Given the description of an element on the screen output the (x, y) to click on. 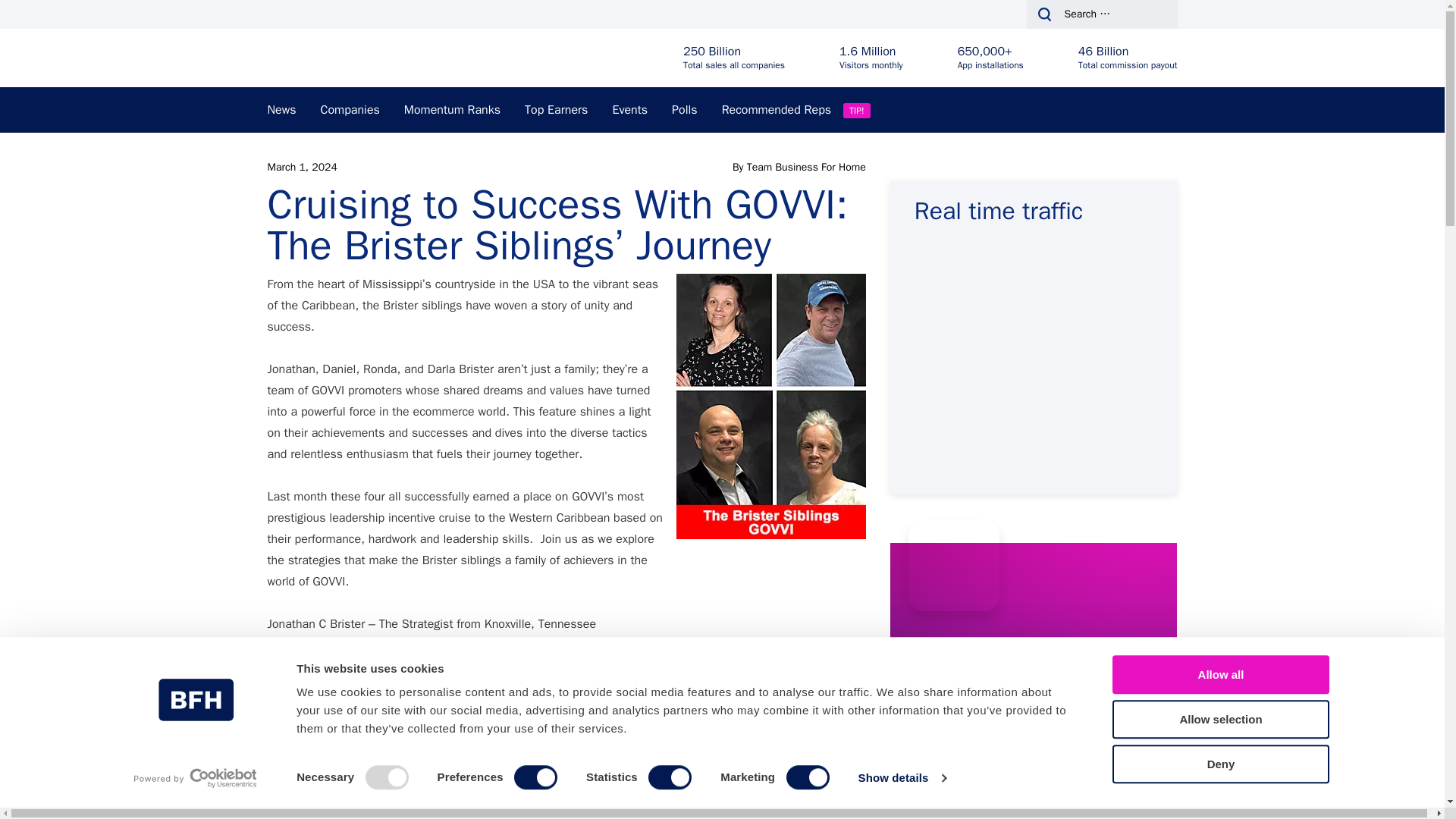
Show details (900, 777)
